Given the description of an element on the screen output the (x, y) to click on. 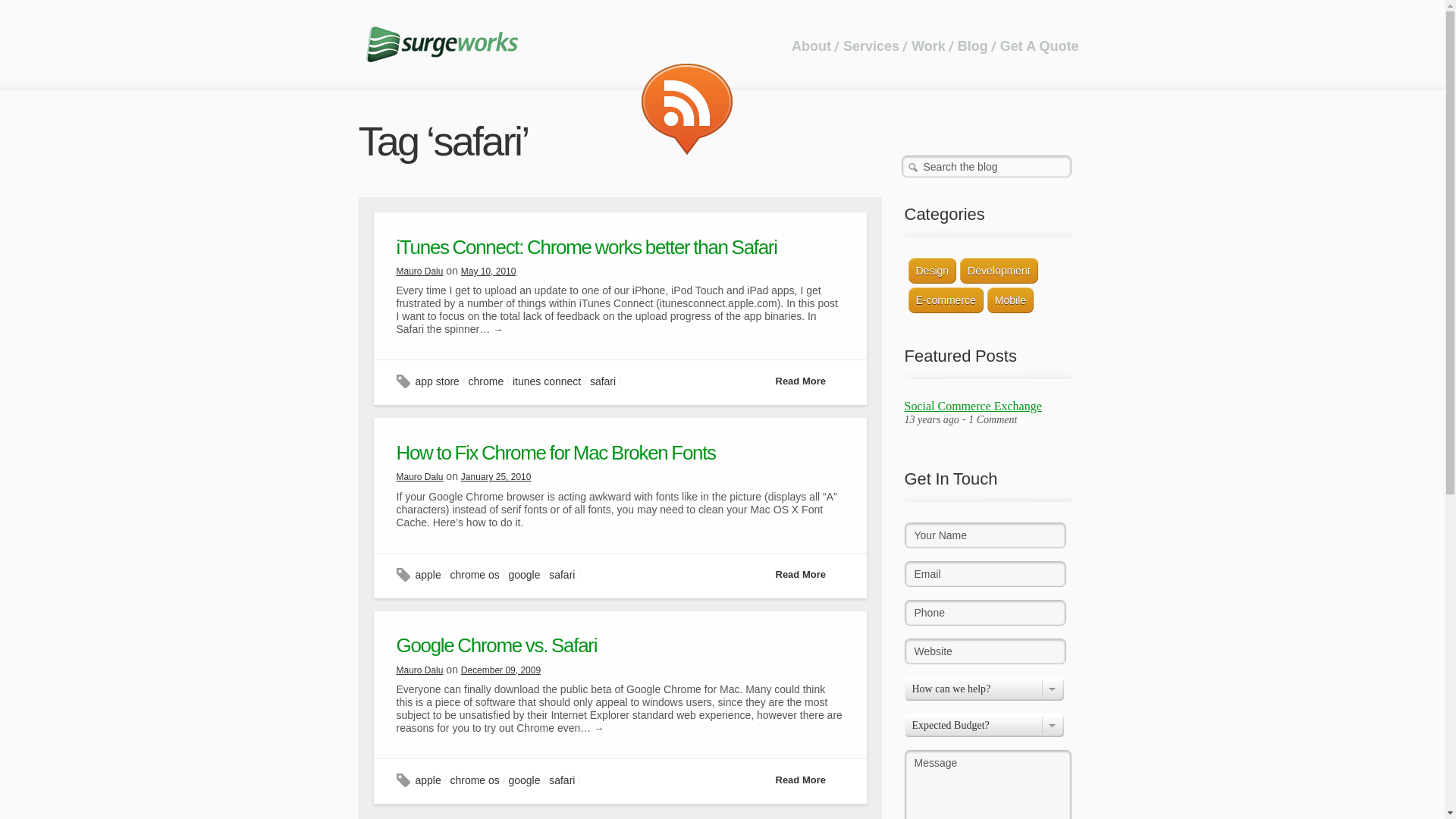
chrome os (474, 779)
About (806, 46)
Blog (967, 46)
How to Fix Chrome for Mac Broken Fonts (555, 452)
January 25, 2010 (496, 476)
Services (865, 46)
Social Commerce Exchange (972, 405)
safari (602, 381)
itunes connect (546, 381)
Mauro Dalu (419, 271)
